Given the description of an element on the screen output the (x, y) to click on. 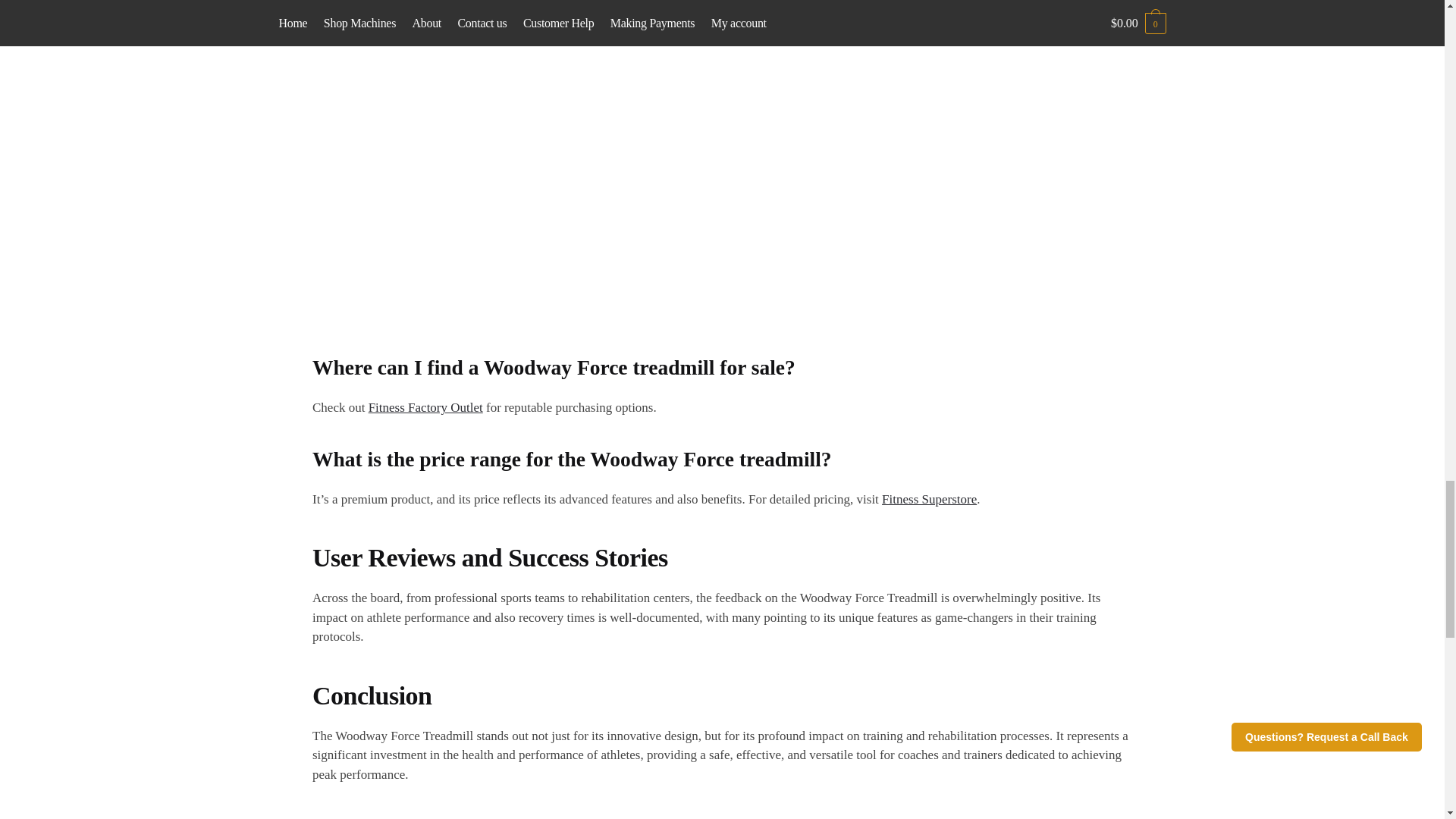
Fitness Superstore (929, 499)
Fitness Factory Outlet (425, 407)
